Given the description of an element on the screen output the (x, y) to click on. 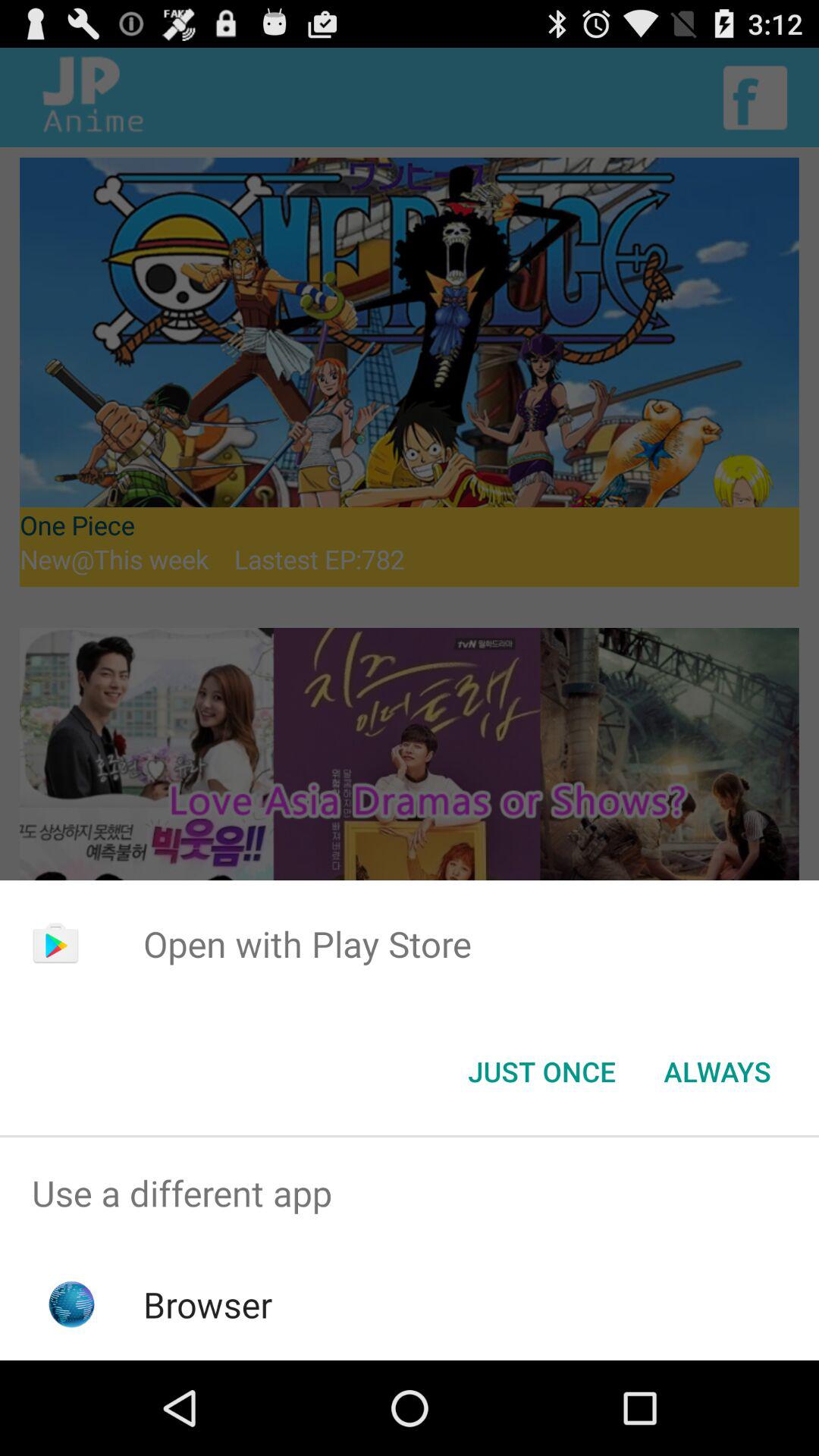
turn off always at the bottom right corner (717, 1071)
